Given the description of an element on the screen output the (x, y) to click on. 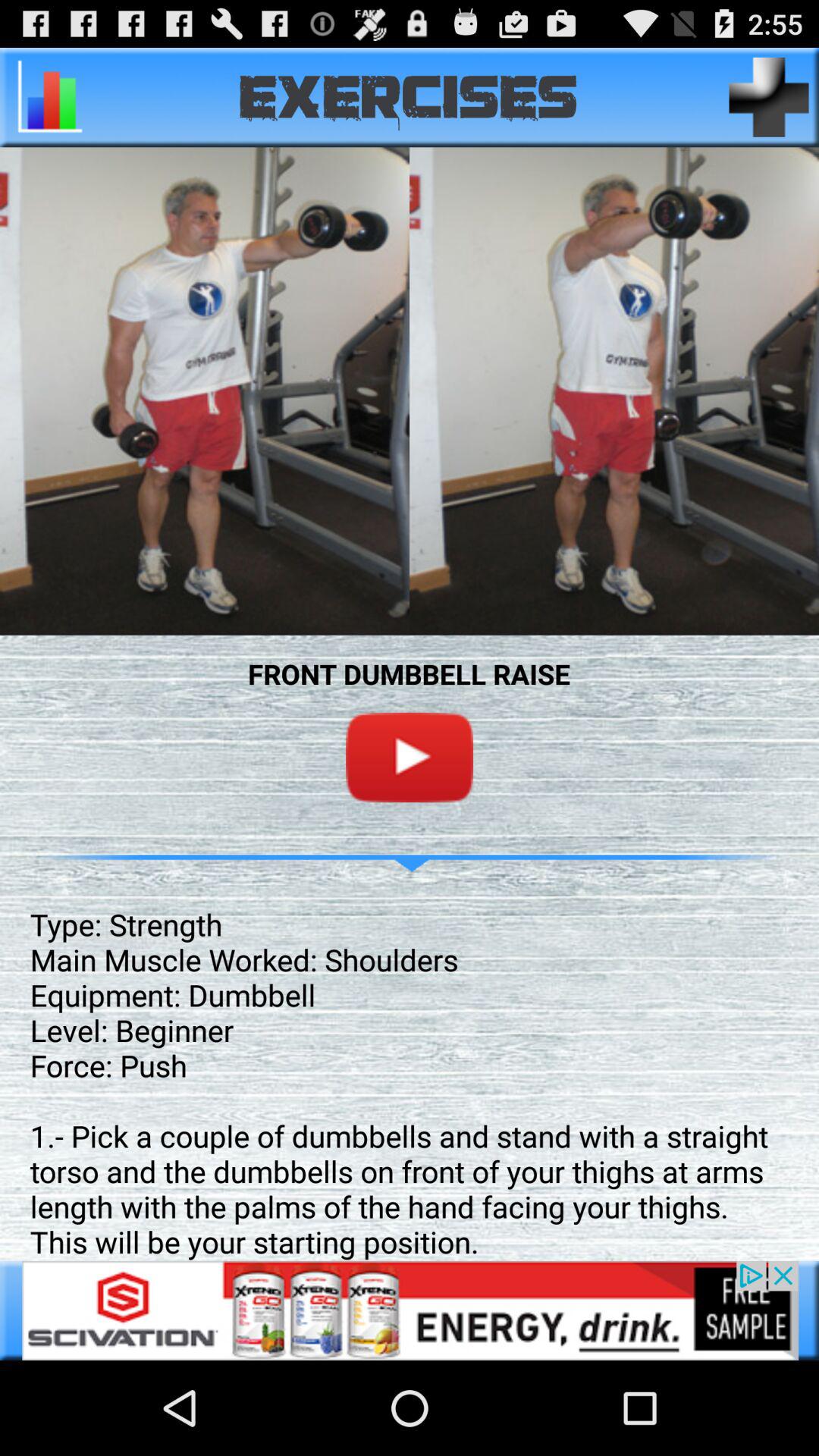
add activity (768, 97)
